Given the description of an element on the screen output the (x, y) to click on. 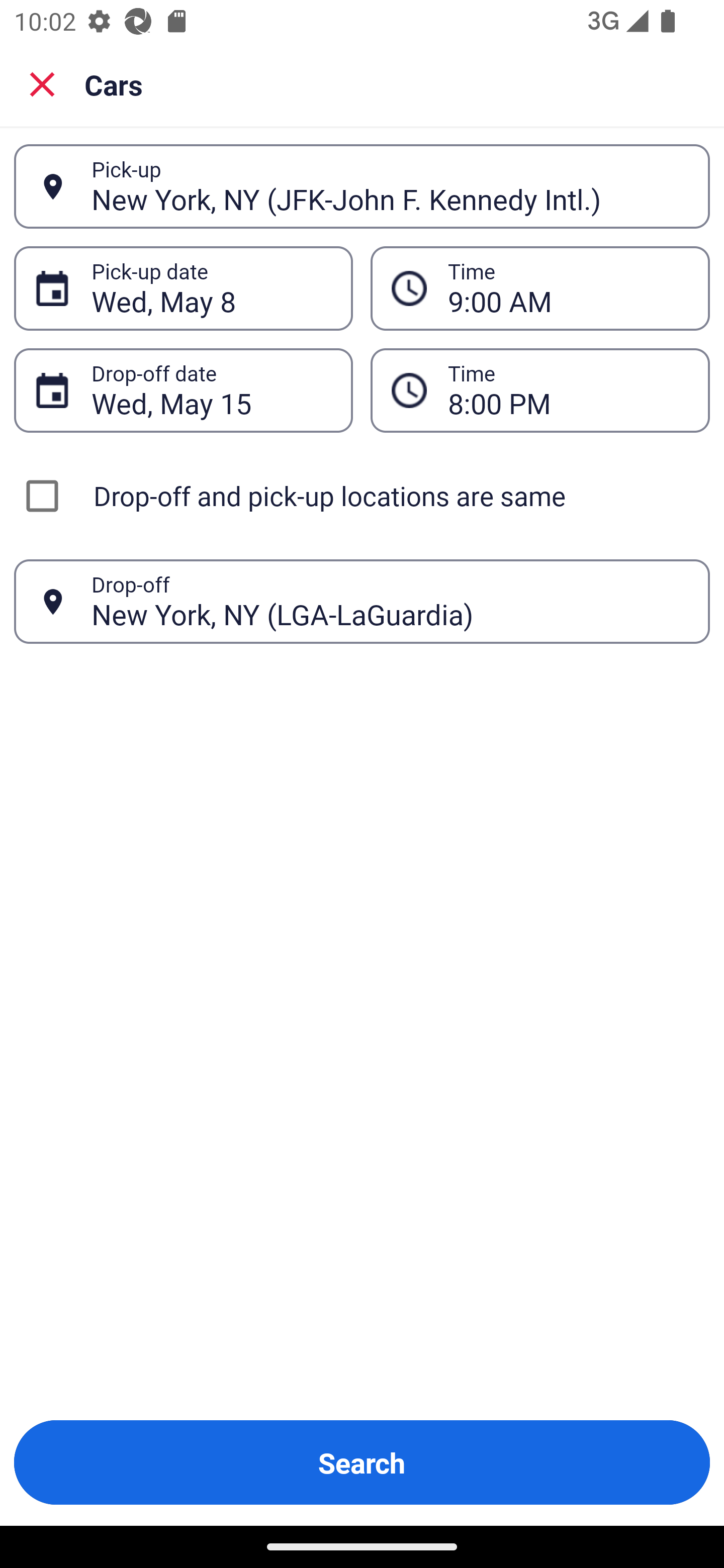
Close search screen (41, 83)
New York, NY (JFK-John F. Kennedy Intl.) Pick-up (361, 186)
New York, NY (JFK-John F. Kennedy Intl.) (389, 186)
Wed, May 8 Pick-up date (183, 288)
9:00 AM (540, 288)
Wed, May 8 (211, 288)
9:00 AM (568, 288)
Wed, May 15 Drop-off date (183, 390)
8:00 PM (540, 390)
Wed, May 15 (211, 390)
8:00 PM (568, 390)
Drop-off and pick-up locations are same (361, 495)
New York, NY (LGA-LaGuardia) Drop-off (361, 601)
New York, NY (LGA-LaGuardia) (389, 601)
Search Button Search (361, 1462)
